Given the description of an element on the screen output the (x, y) to click on. 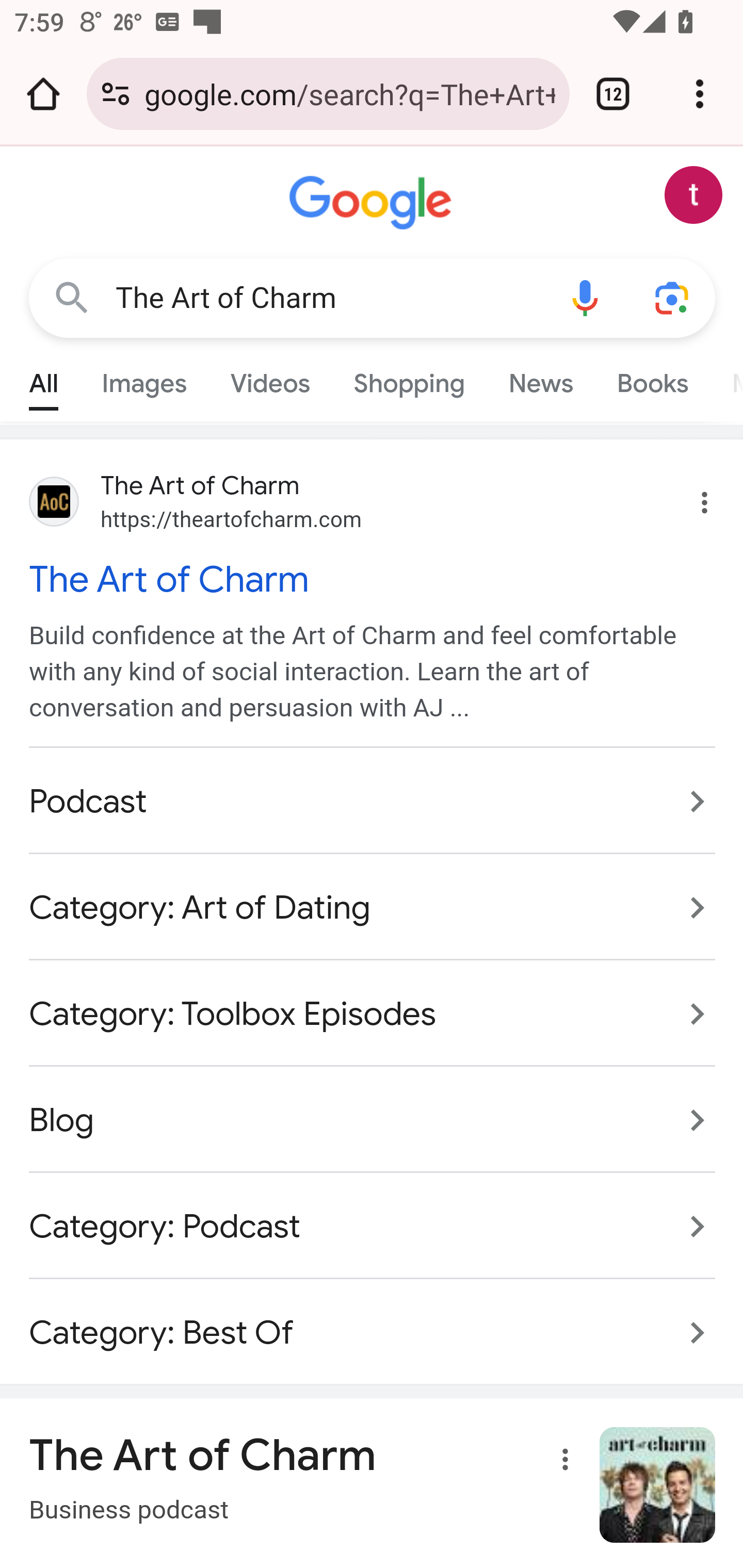
Open the home page (43, 93)
Connection is secure (115, 93)
Switch or close tabs (612, 93)
Customize and control Google Chrome (699, 93)
Google (372, 203)
Google Search (71, 296)
Search using your camera or photos (672, 296)
The Art of Charm (328, 297)
Images (144, 378)
Videos (270, 378)
Shopping (408, 378)
News (540, 378)
Books (652, 378)
The Art of Charm (372, 579)
Podcast (372, 802)
Category: Art of Dating (372, 908)
Category: Toolbox Episodes (372, 1014)
Blog (372, 1119)
Category: Podcast (372, 1225)
Category: Best Of (372, 1321)
Thumbnail image for The Art of Charm (657, 1484)
More options (561, 1462)
